Given the description of an element on the screen output the (x, y) to click on. 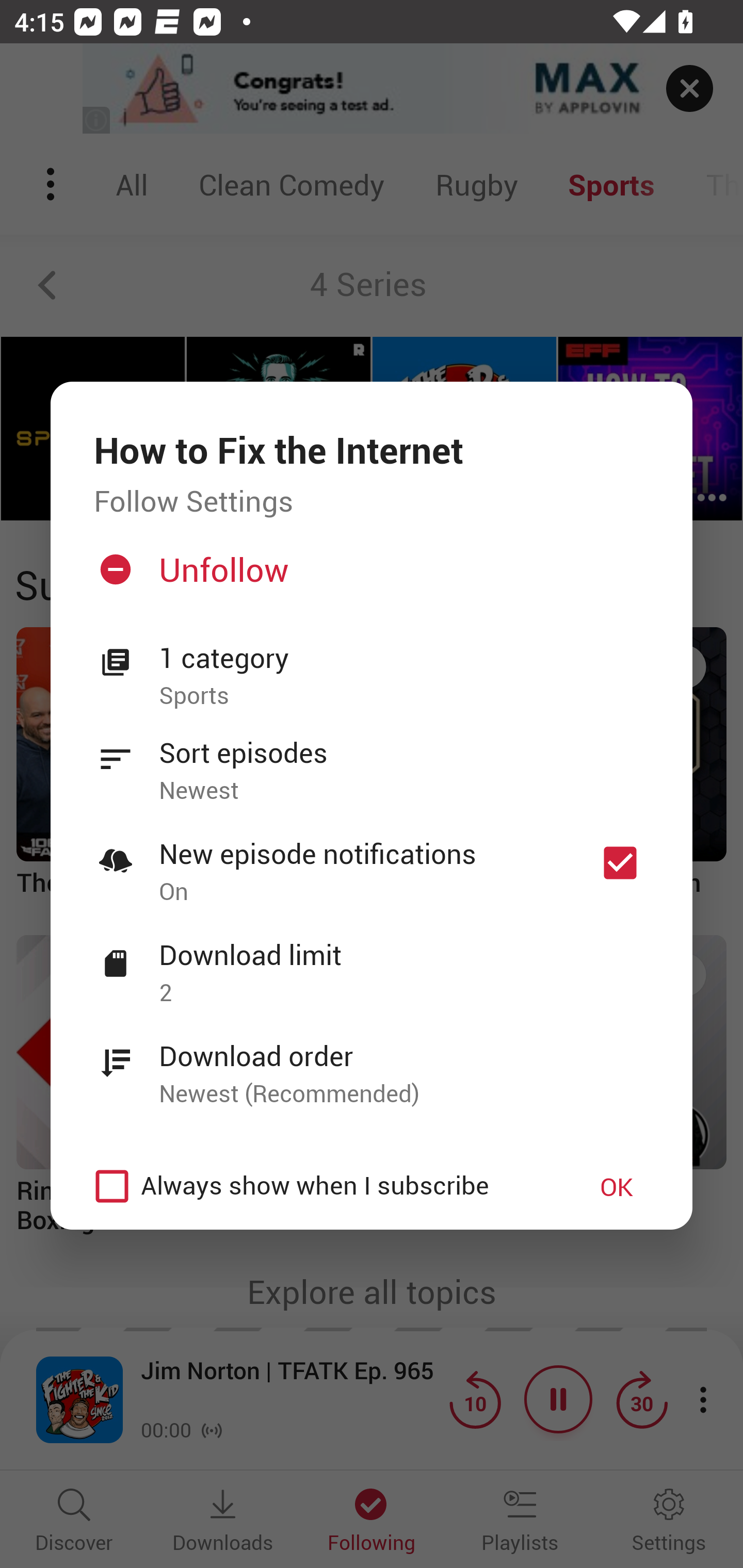
Unfollow (369, 576)
1 category (404, 658)
Sports (404, 696)
Sort episodes Newest (371, 760)
New episode notifications (620, 863)
Download limit 2 (371, 962)
Download order Newest (Recommended) (371, 1063)
OK (616, 1186)
Always show when I subscribe (320, 1186)
